Given the description of an element on the screen output the (x, y) to click on. 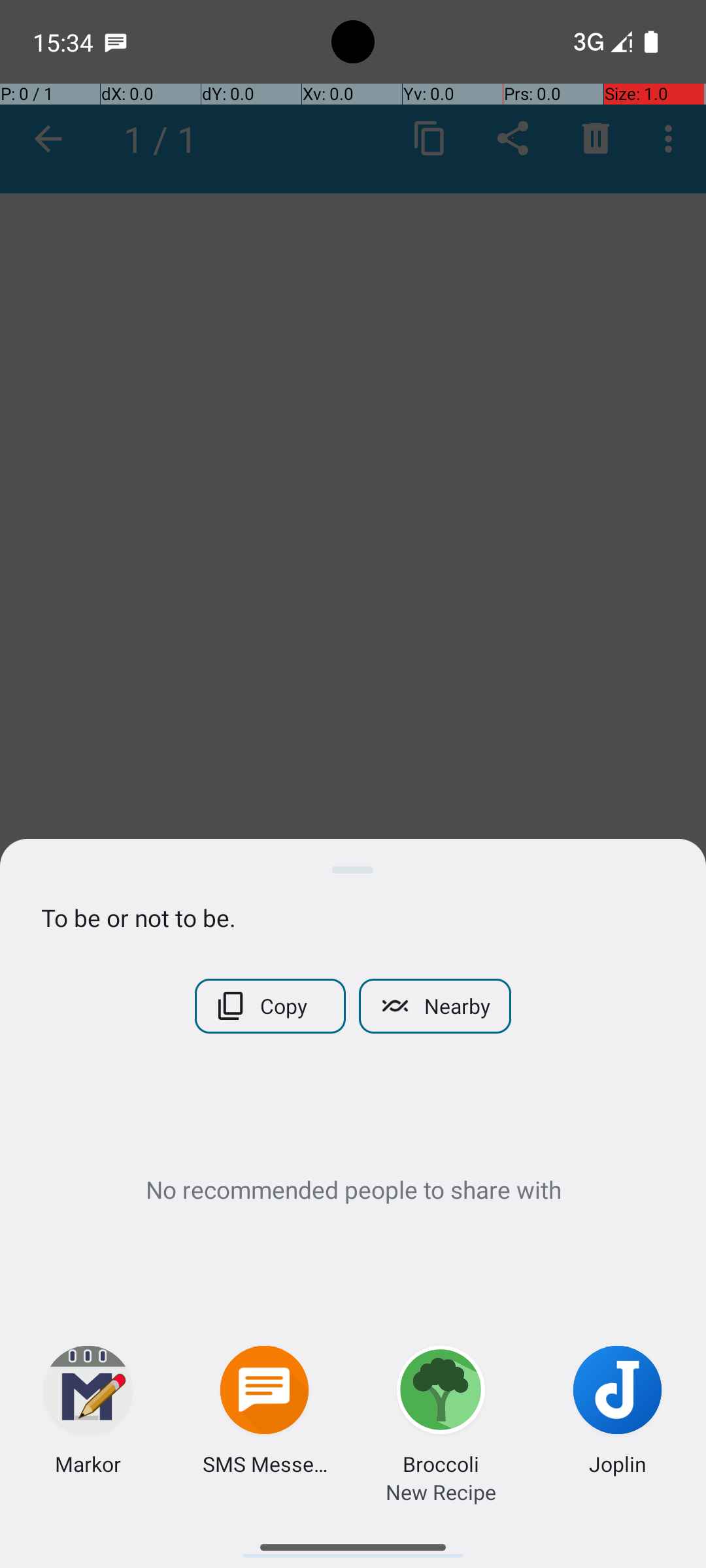
To be or not to be. Element type: android.widget.TextView (352, 917)
Copy Element type: android.widget.Button (269, 1005)
Joplin Element type: android.widget.TextView (617, 1463)
